Given the description of an element on the screen output the (x, y) to click on. 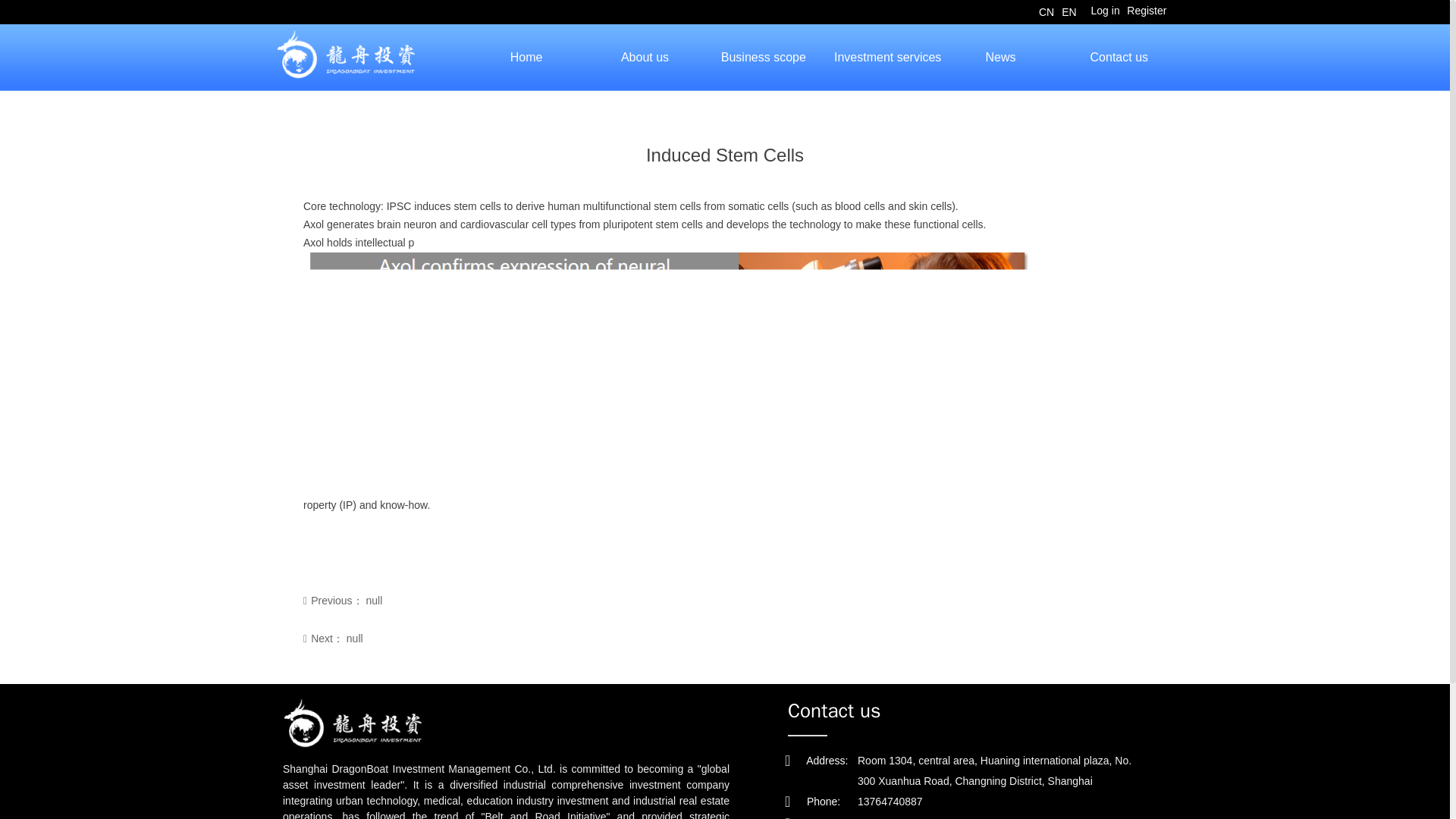
Contact us (965, 801)
Log in (1119, 57)
Home (1104, 10)
News (526, 57)
Investment services (1000, 57)
About us (882, 57)
Business scope (644, 57)
Register (763, 57)
